Given the description of an element on the screen output the (x, y) to click on. 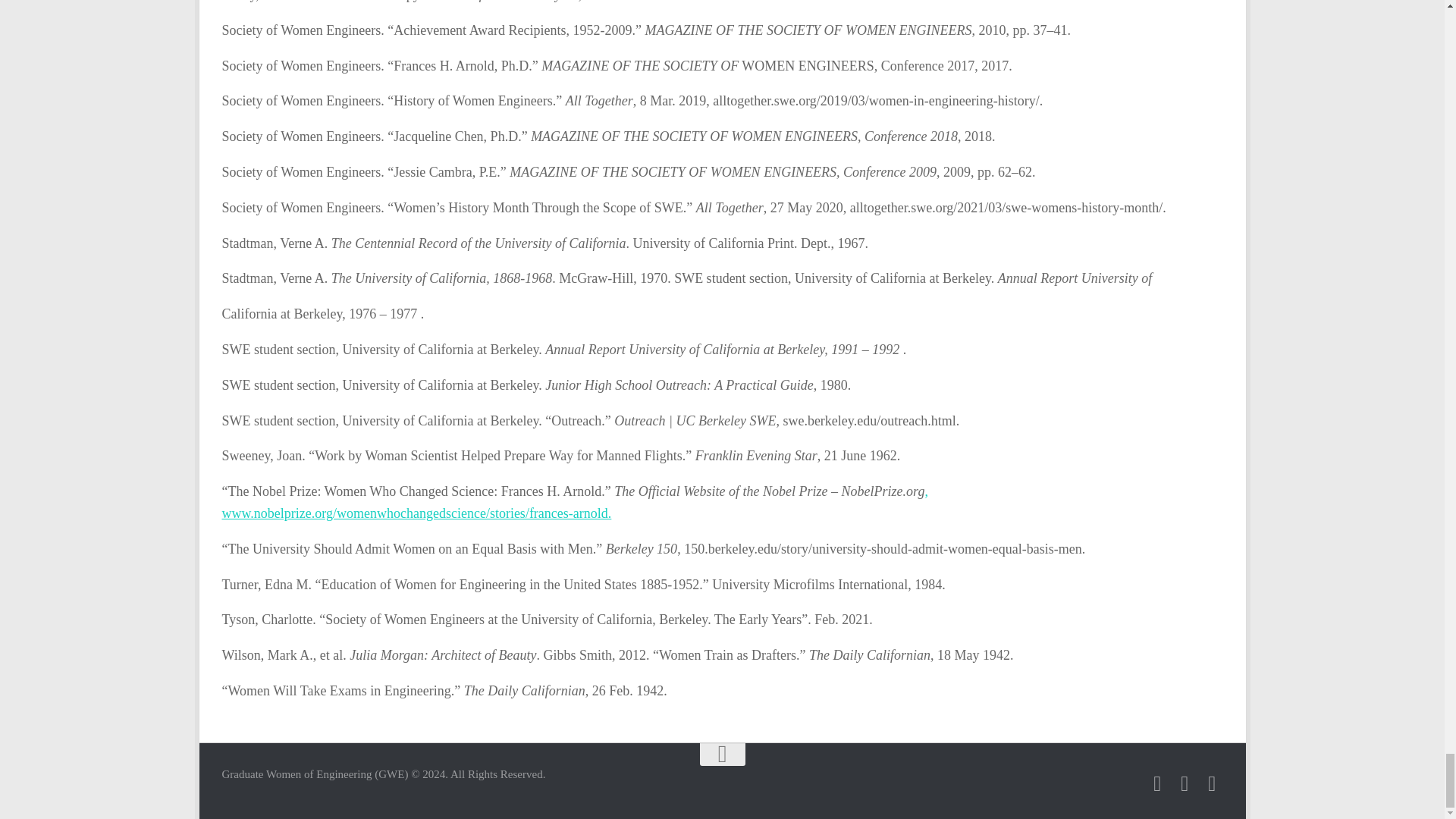
Follow us on Facebook (1157, 783)
Follow us on Linkedin (1184, 783)
Follow us on Twitter (1212, 783)
